Given the description of an element on the screen output the (x, y) to click on. 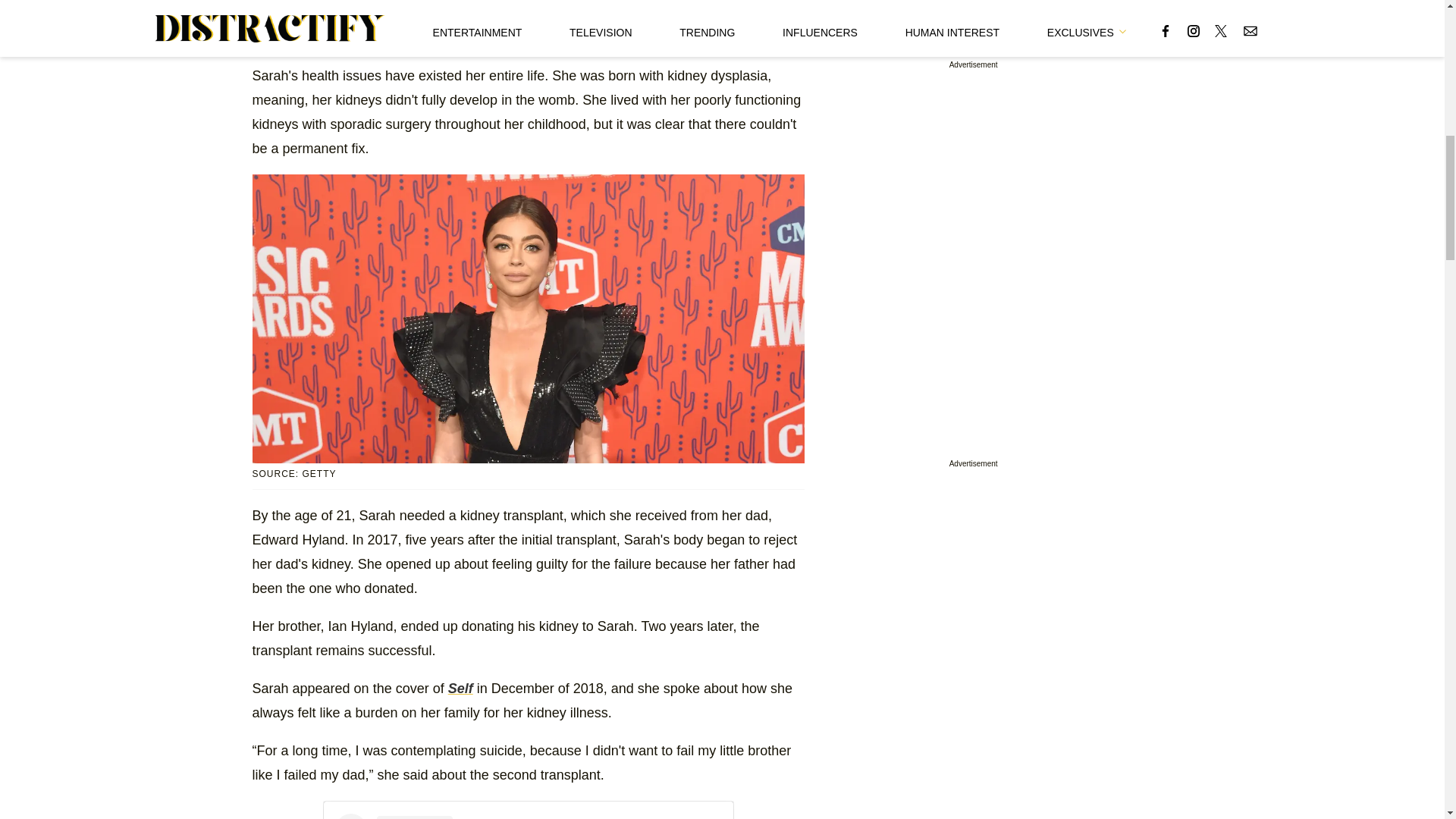
Self (460, 688)
View this post on Instagram (527, 816)
